Given the description of an element on the screen output the (x, y) to click on. 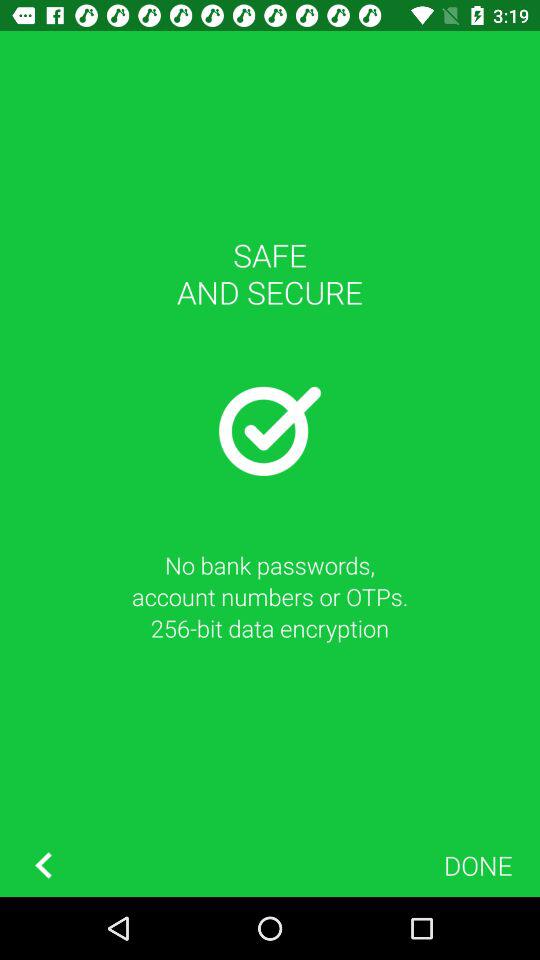
turn on item at the bottom left corner (43, 864)
